Given the description of an element on the screen output the (x, y) to click on. 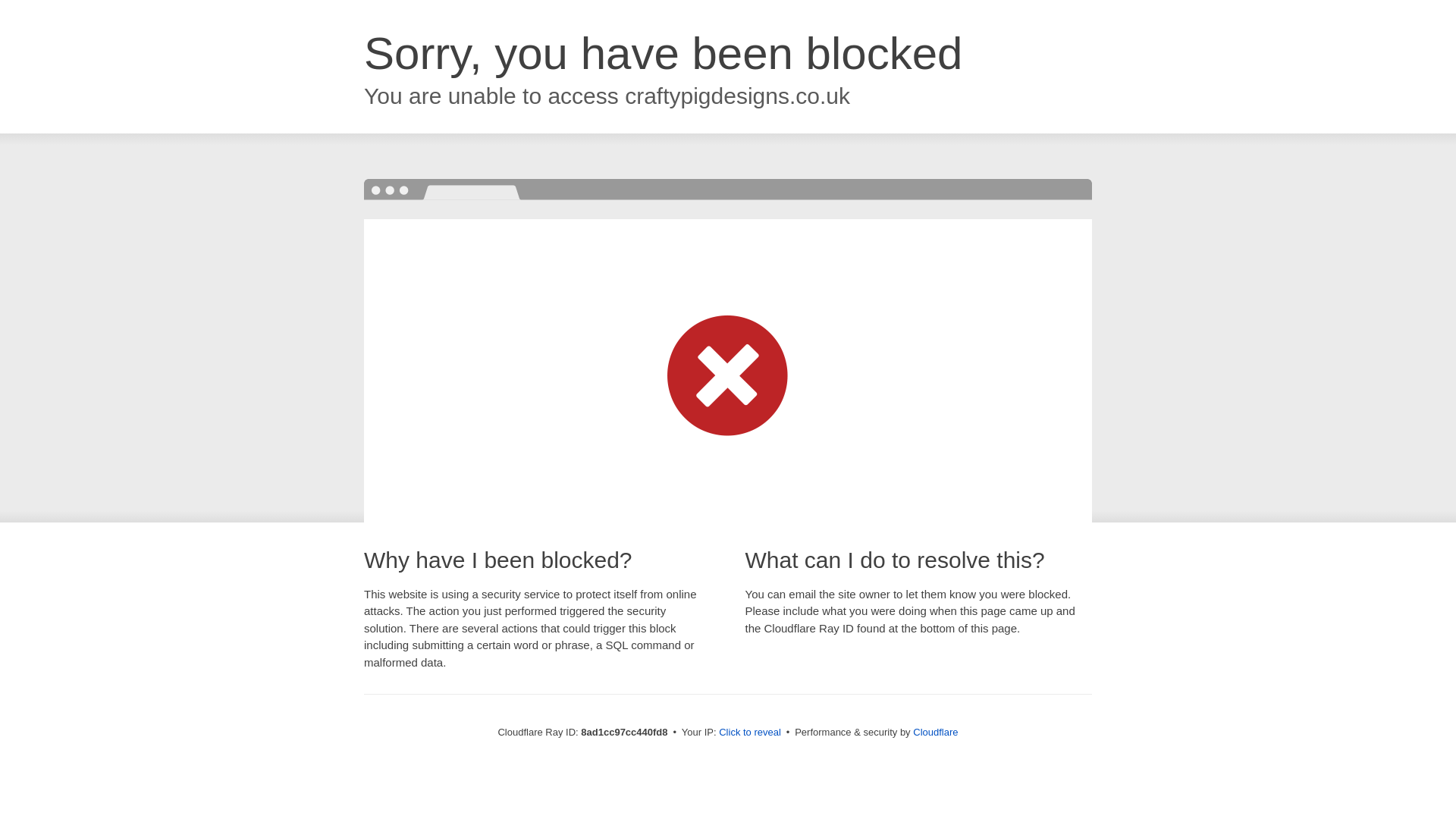
Cloudflare (935, 731)
Click to reveal (749, 732)
